Given the description of an element on the screen output the (x, y) to click on. 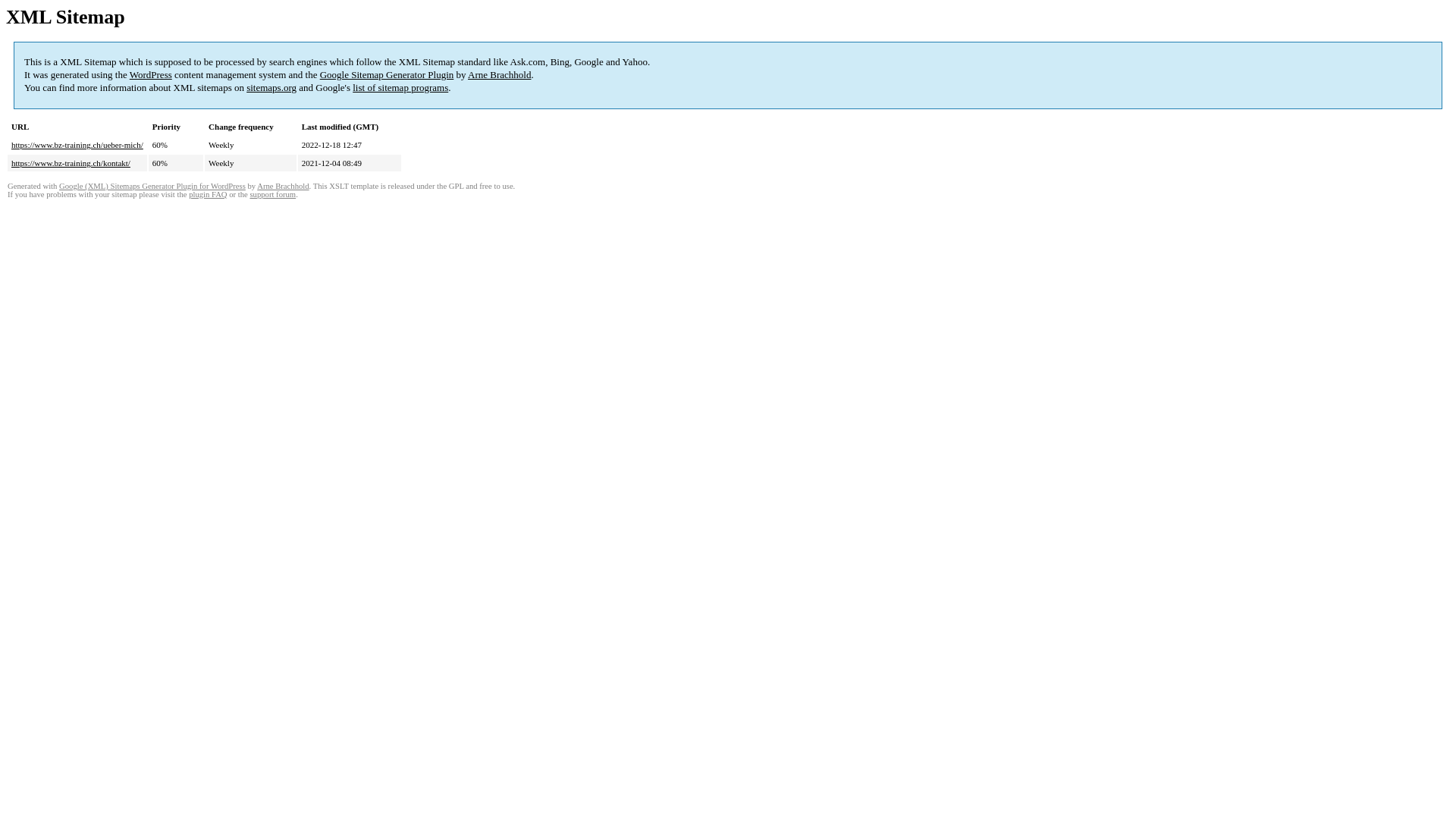
WordPress Element type: text (150, 74)
https://www.bz-training.ch/kontakt/ Element type: text (70, 162)
Arne Brachhold Element type: text (498, 74)
Google Sitemap Generator Plugin Element type: text (387, 74)
support forum Element type: text (272, 194)
sitemaps.org Element type: text (271, 87)
Arne Brachhold Element type: text (282, 186)
list of sitemap programs Element type: text (400, 87)
Google (XML) Sitemaps Generator Plugin for WordPress Element type: text (152, 186)
plugin FAQ Element type: text (207, 194)
https://www.bz-training.ch/ueber-mich/ Element type: text (77, 144)
